Given the description of an element on the screen output the (x, y) to click on. 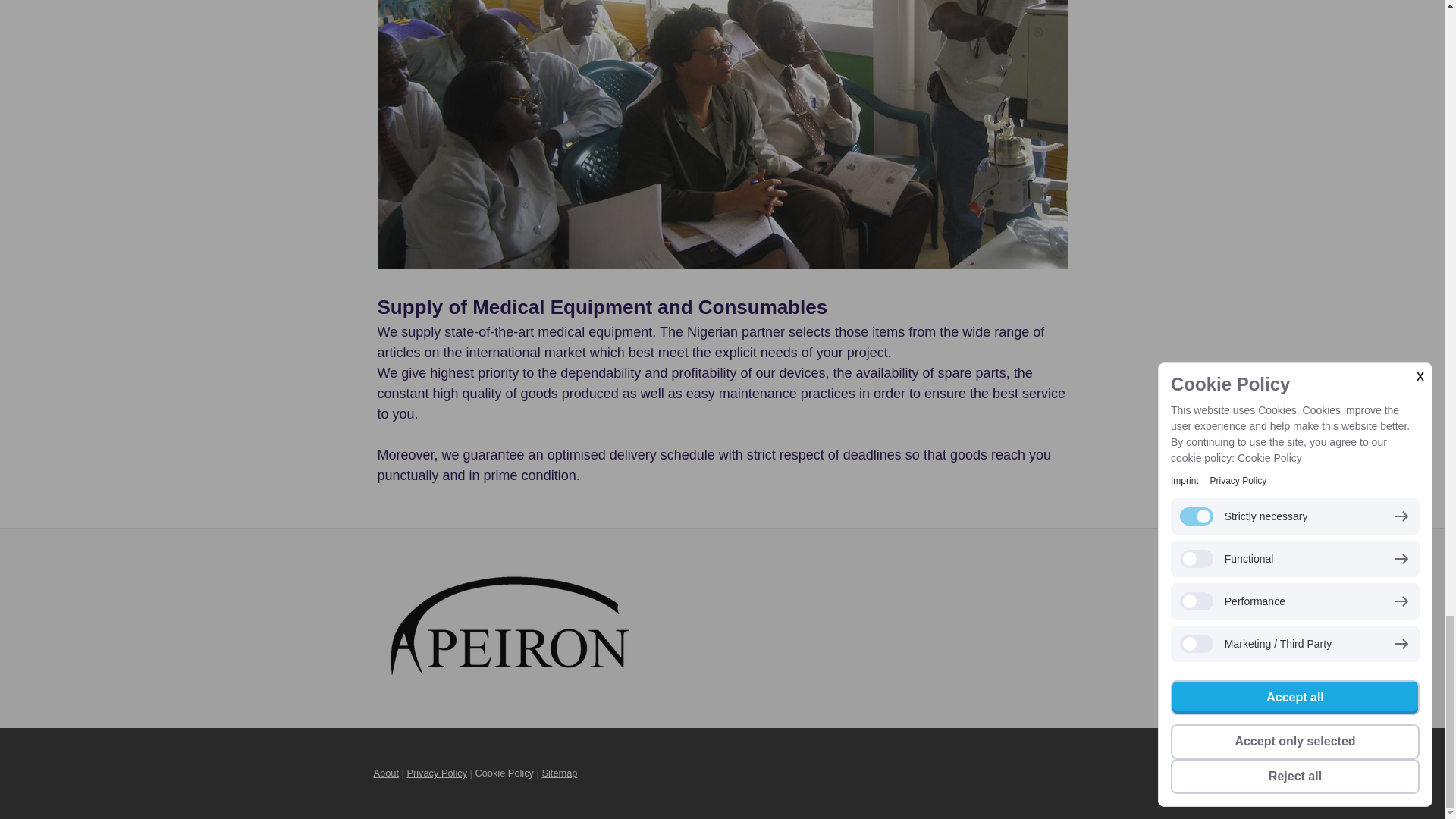
Cookie Policy (504, 772)
Privacy Policy (436, 772)
About (384, 772)
Sitemap (558, 772)
